Given the description of an element on the screen output the (x, y) to click on. 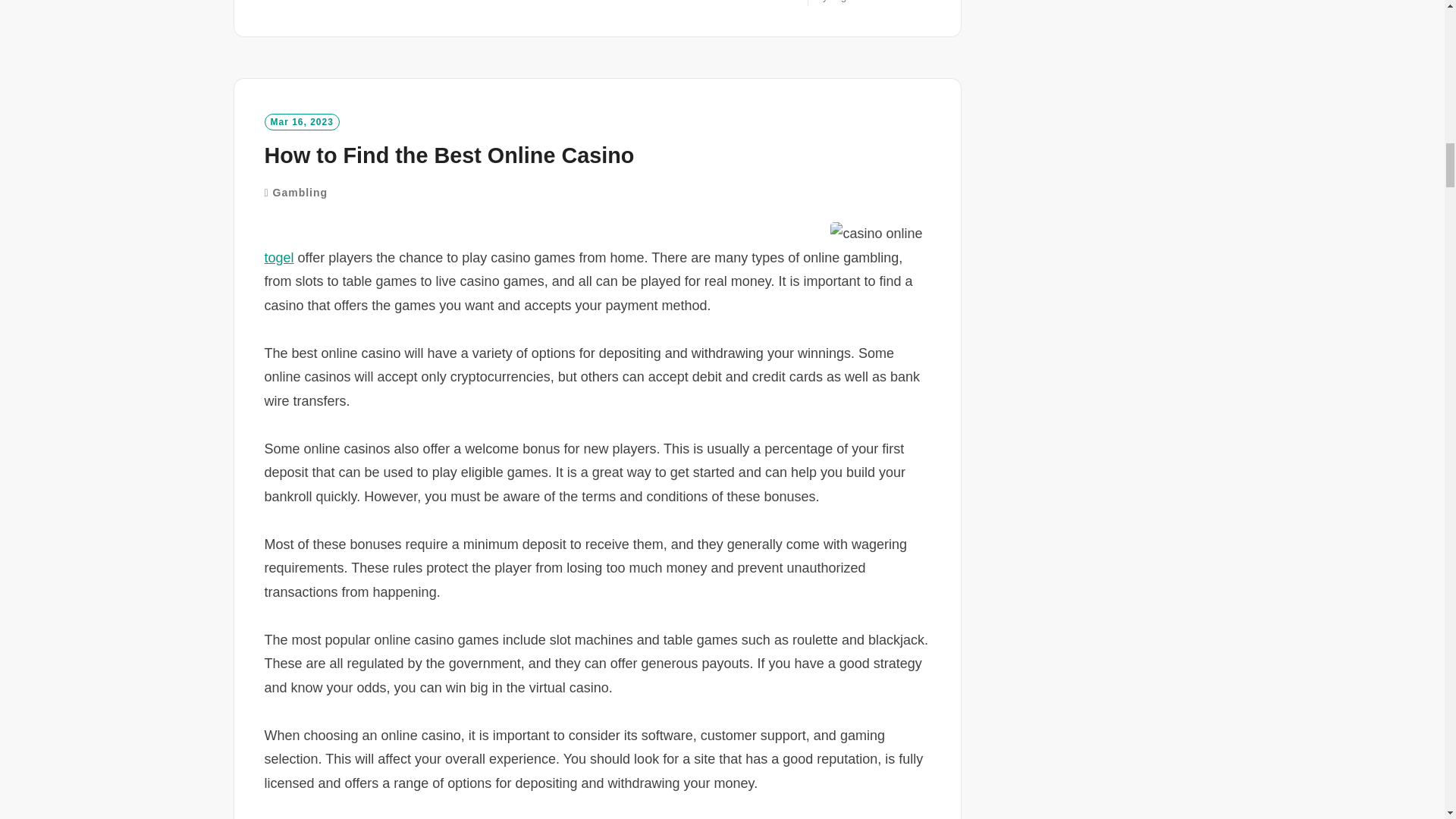
Mar 16, 2023 (301, 121)
TigabelasJuli2022 (877, 1)
Gambling (301, 192)
togel (305, 2)
How to Find the Best Online Casino (278, 257)
